Given the description of an element on the screen output the (x, y) to click on. 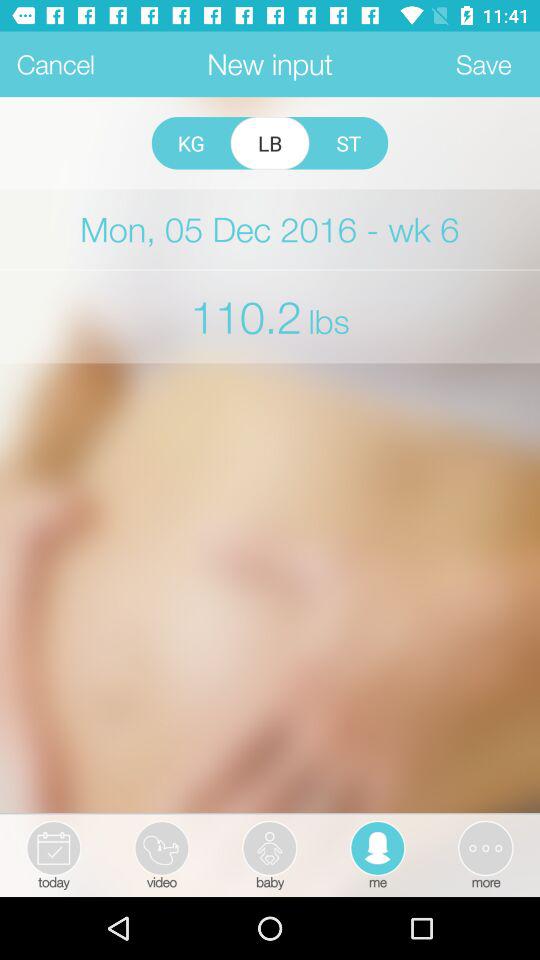
turn off the icon to the right of lb icon (348, 143)
